Given the description of an element on the screen output the (x, y) to click on. 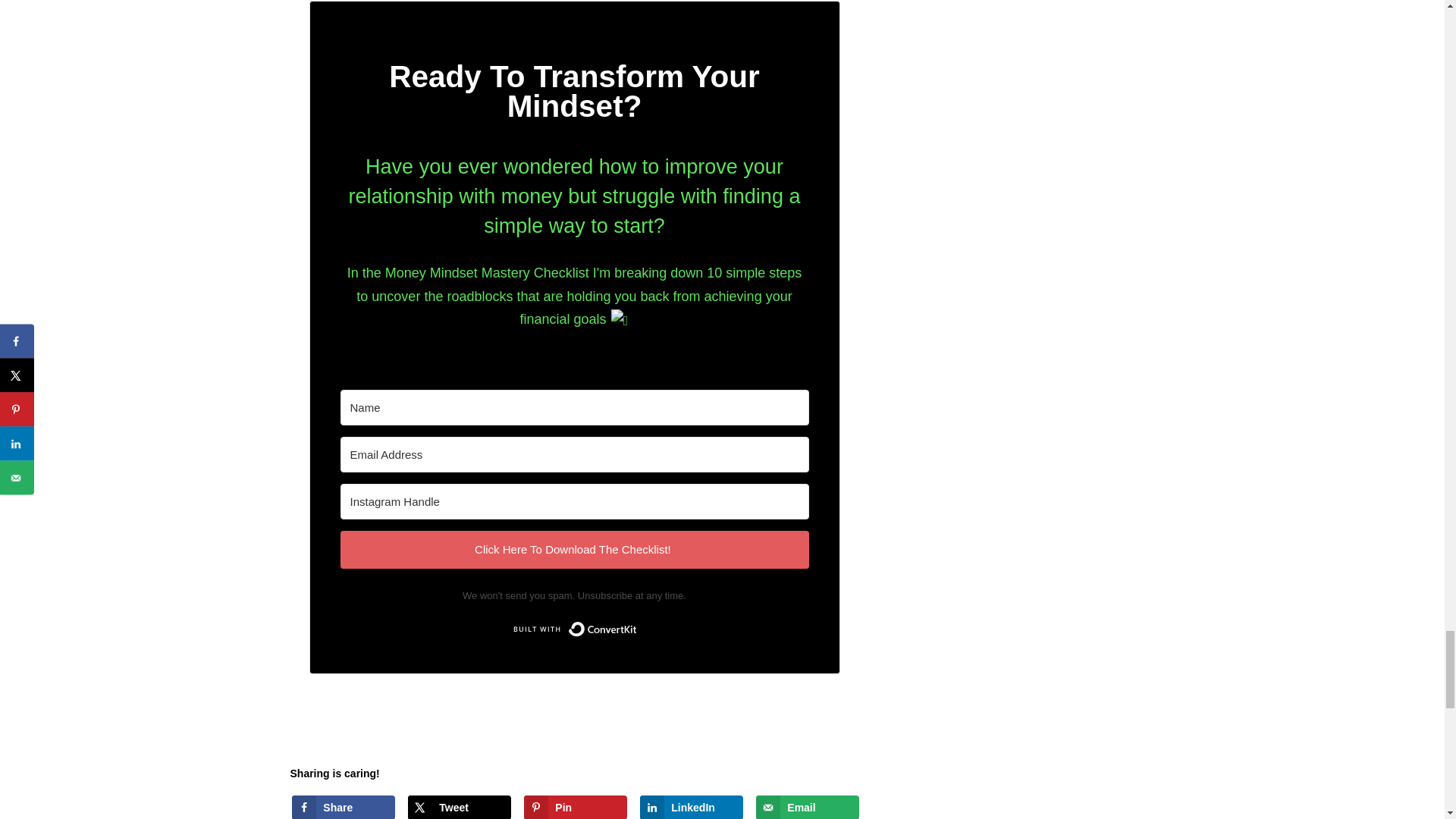
Share on X (459, 807)
Share on Facebook (343, 807)
Share on LinkedIn (691, 807)
Save to Pinterest (575, 807)
Send over email (807, 807)
